Given the description of an element on the screen output the (x, y) to click on. 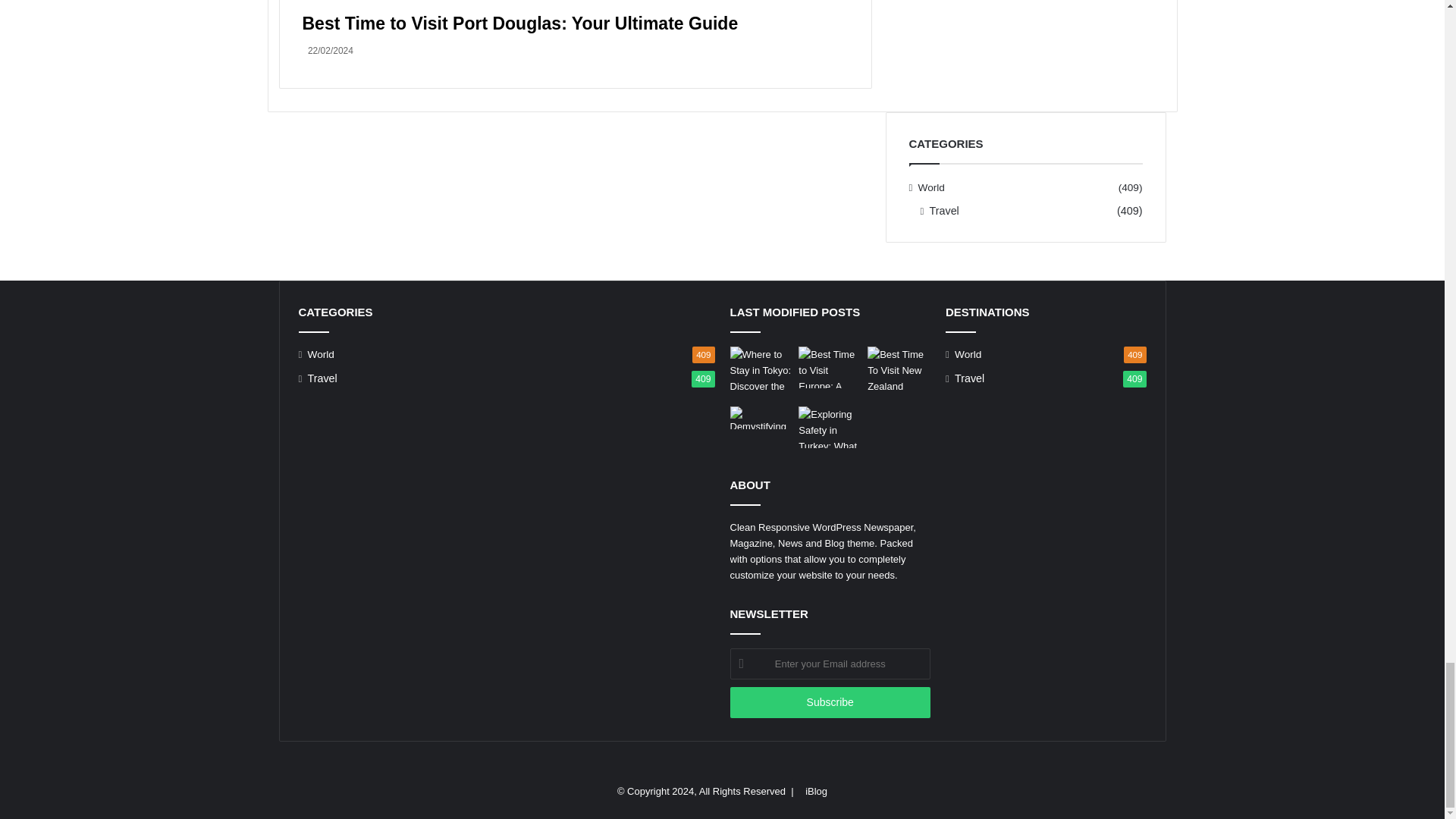
Subscribe (829, 702)
Where to Stay in Tokyo: Discover the Best Neighborhoods 9 (760, 368)
Best Time to Visit Port Douglas: Your Ultimate Guide 8 (574, 5)
Best Time to Visit Europe: A Season by Season Guide 10 (829, 367)
Best Time To Experience the Magic of New Zealand 11 (898, 373)
